Given the description of an element on the screen output the (x, y) to click on. 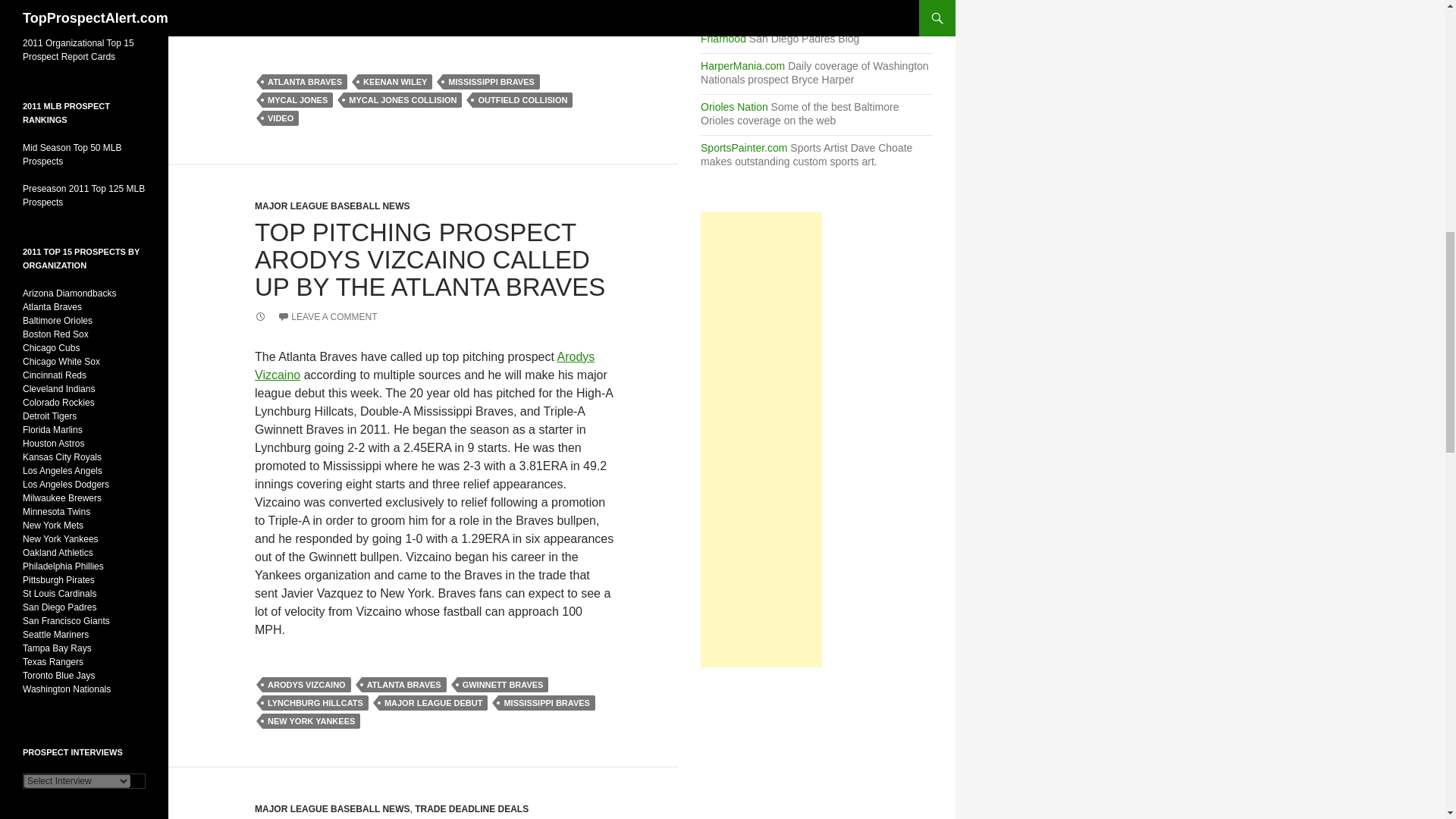
MISSISSIPPI BRAVES (546, 702)
TRADE DEADLINE DEALS (471, 808)
ARODYS VIZCAINO (306, 684)
ATLANTA BRAVES (403, 684)
Arodys Vizcaino (424, 365)
LYNCHBURG HILLCATS (315, 702)
KEENAN WILEY (395, 81)
MYCAL JONES (297, 99)
Daily coverage of Washington Nationals prospect Bryce Harper (742, 65)
MAJOR LEAGUE BASEBALL NEWS (331, 205)
